Given the description of an element on the screen output the (x, y) to click on. 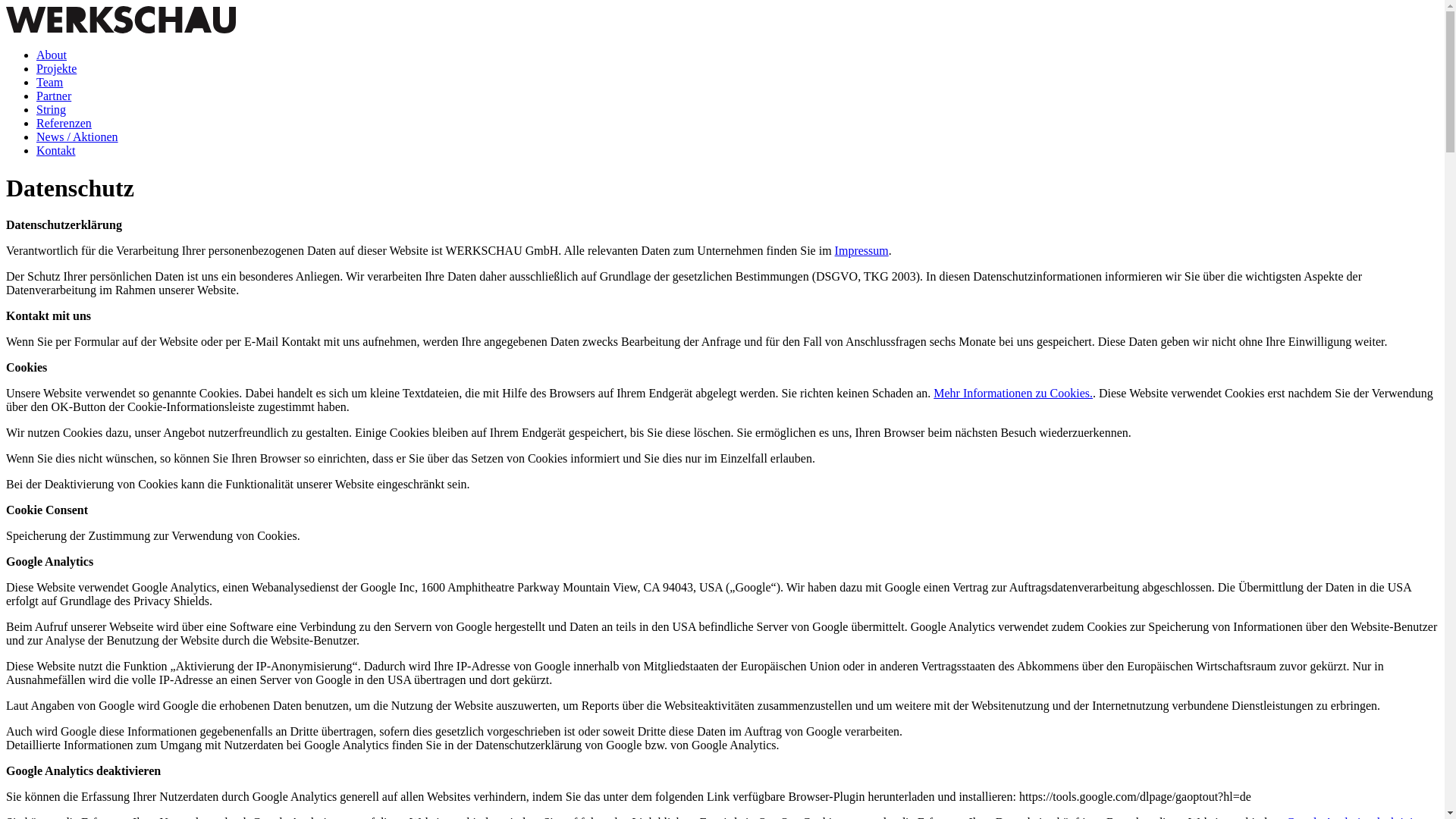
Referenzen Element type: text (63, 122)
Partner Element type: text (53, 95)
Projekte Element type: text (56, 68)
Mehr Informationen zu Cookies. Element type: text (1012, 392)
Impressum Element type: text (861, 250)
Kontakt Element type: text (55, 150)
String Element type: text (50, 109)
News / Aktionen Element type: text (77, 136)
About Element type: text (51, 54)
Werkschau Element type: hover (120, 19)
Team Element type: text (49, 81)
